Given the description of an element on the screen output the (x, y) to click on. 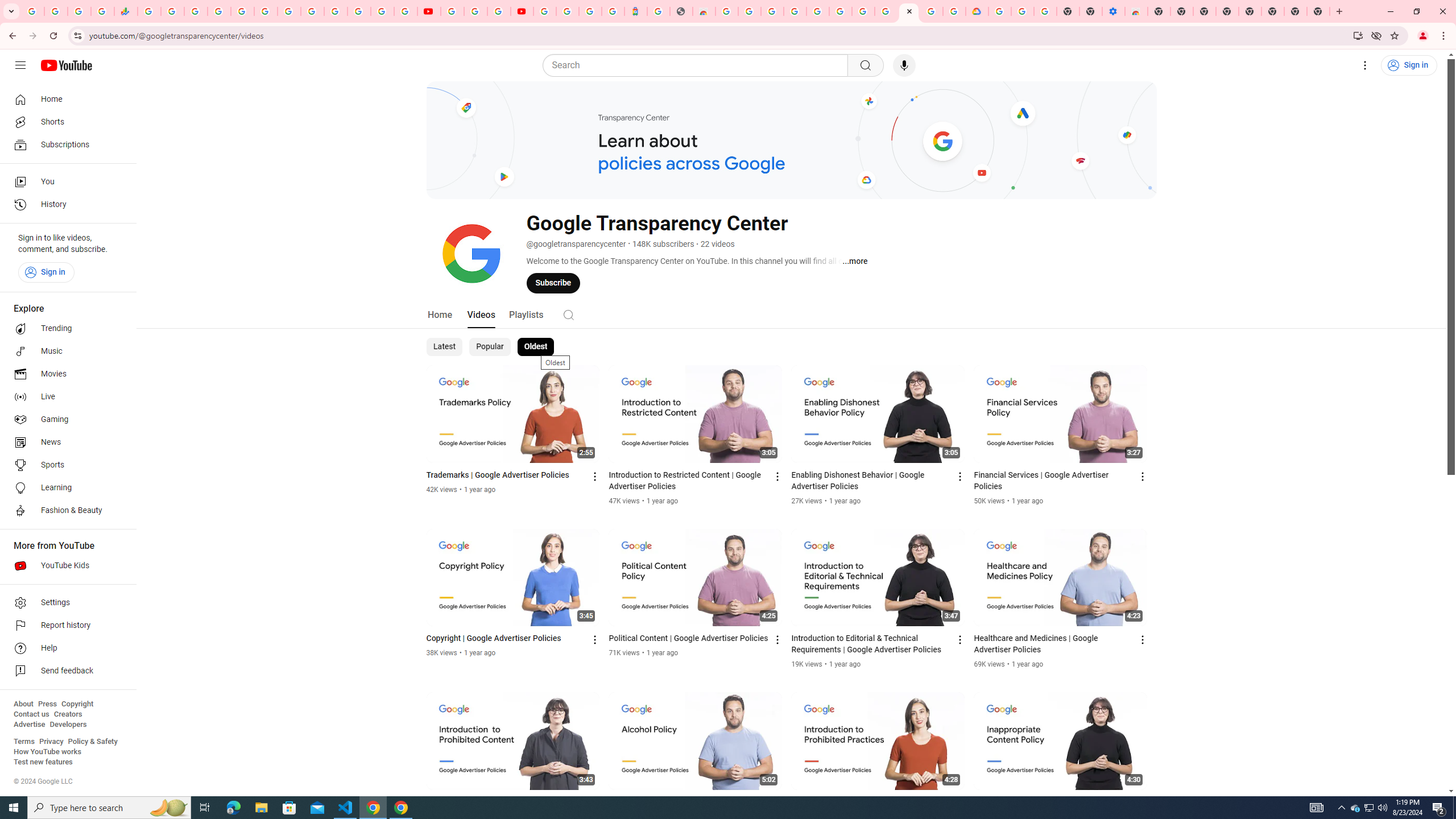
Home (440, 314)
Sign in - Google Accounts (999, 11)
YouTube (451, 11)
About (23, 703)
Android TV Policies and Guidelines - Transparency Center (288, 11)
Developers (68, 724)
Third-party cookies blocked (1376, 35)
Sign in (45, 272)
Create your Google Account (498, 11)
